Given the description of an element on the screen output the (x, y) to click on. 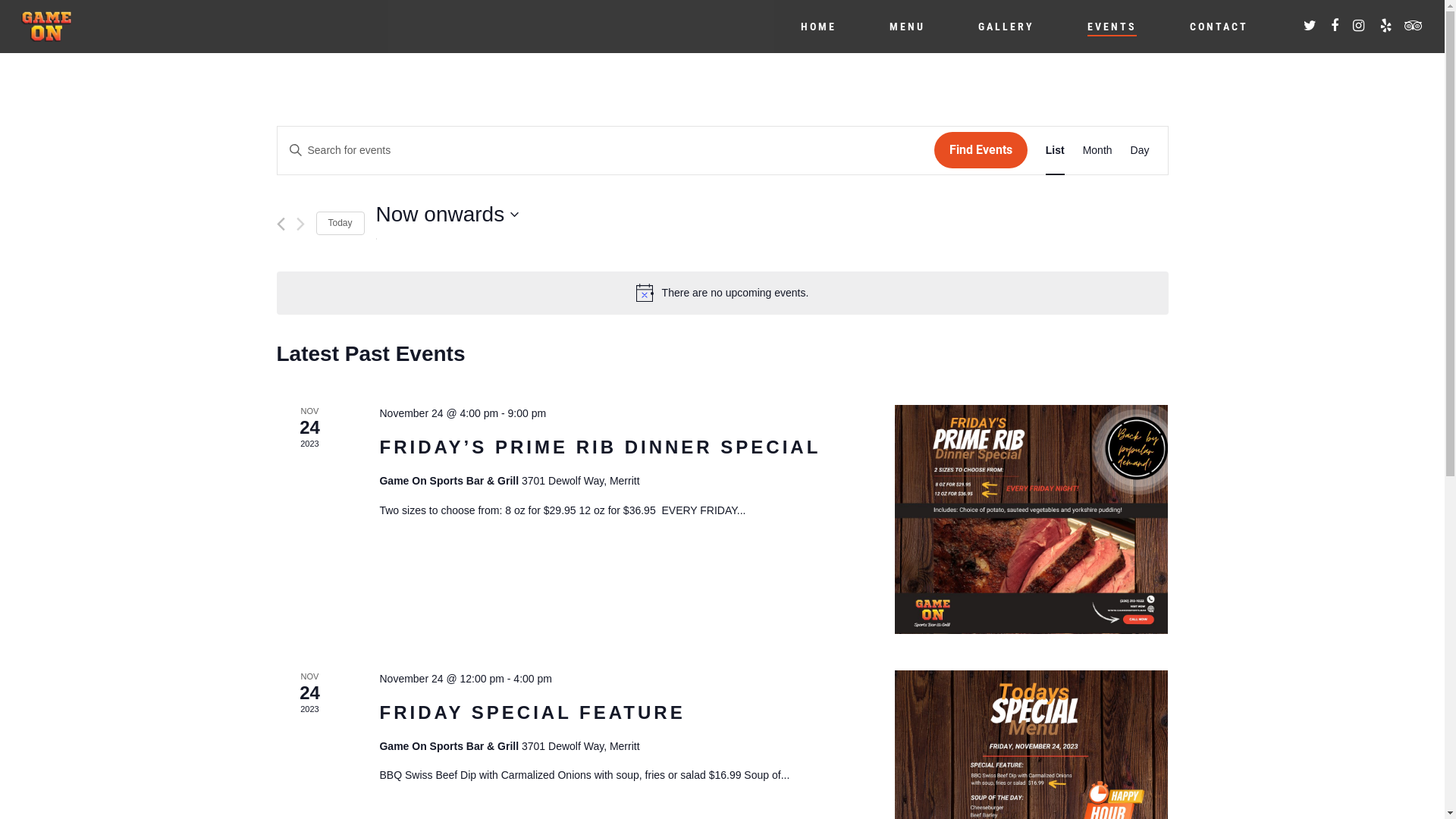
HOME Element type: text (818, 26)
FRIDAY SPECIAL FEATURE Element type: text (531, 712)
Previous Events Element type: hover (280, 223)
Month Element type: text (1097, 150)
EVENTS Element type: text (1111, 26)
CONTACT Element type: text (1218, 26)
Now onwards Element type: text (447, 214)
GALLERY Element type: text (1006, 26)
List Element type: text (1054, 150)
Next Events Element type: hover (299, 223)
Day Element type: text (1139, 150)
Find Events Element type: text (980, 149)
Today Element type: text (339, 223)
MENU Element type: text (907, 26)
